Given the description of an element on the screen output the (x, y) to click on. 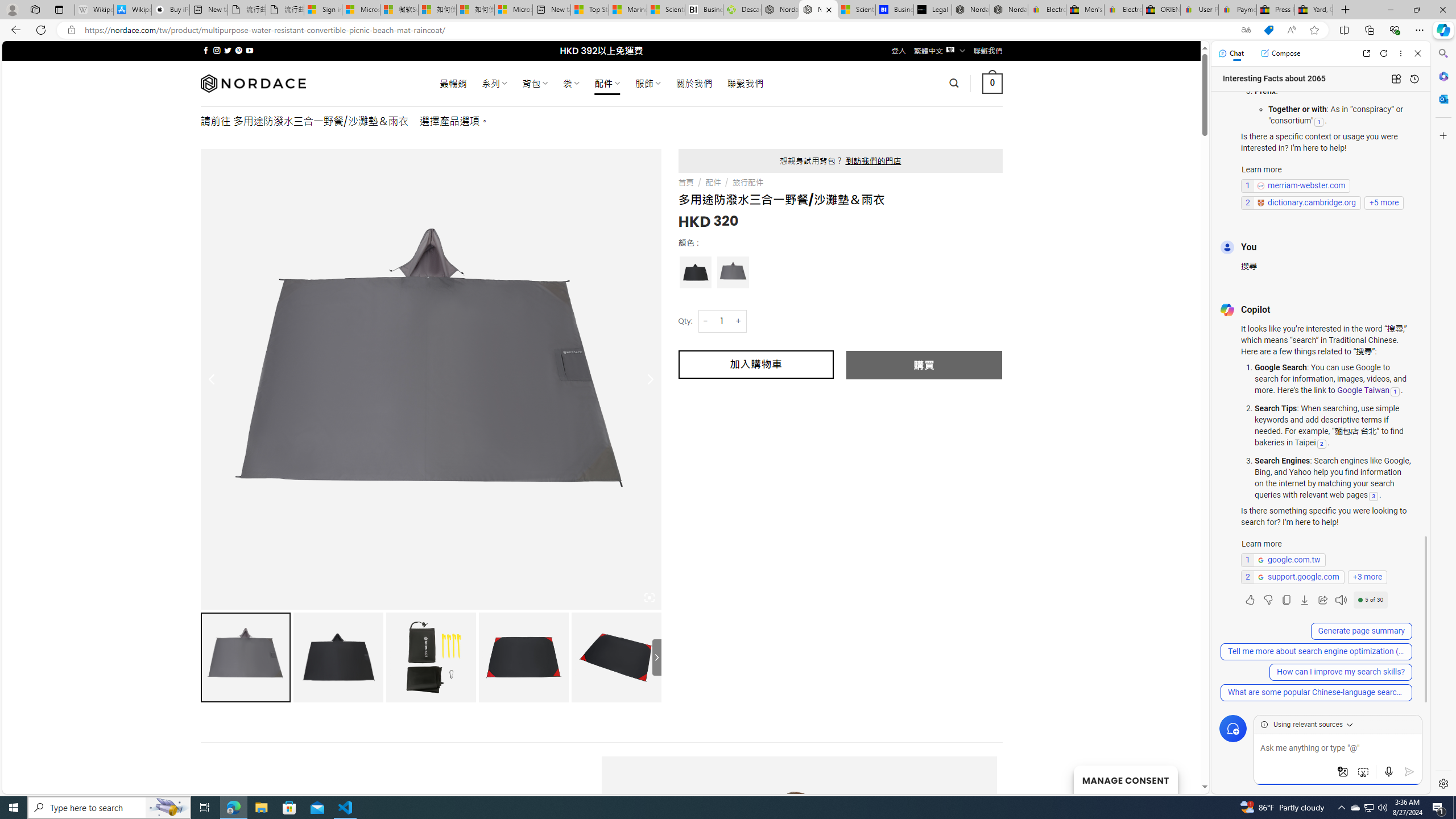
- (705, 320)
